Given the description of an element on the screen output the (x, y) to click on. 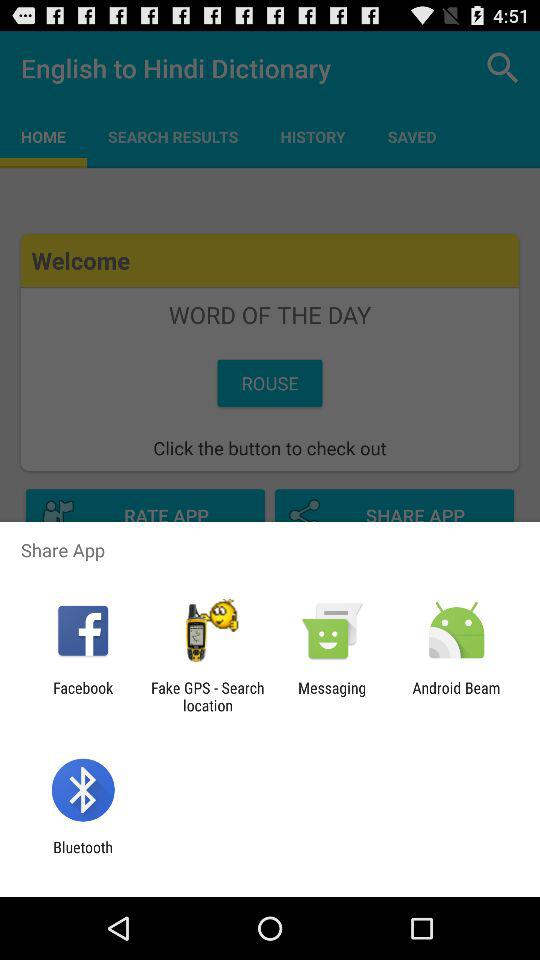
choose the app to the right of fake gps search item (332, 696)
